Given the description of an element on the screen output the (x, y) to click on. 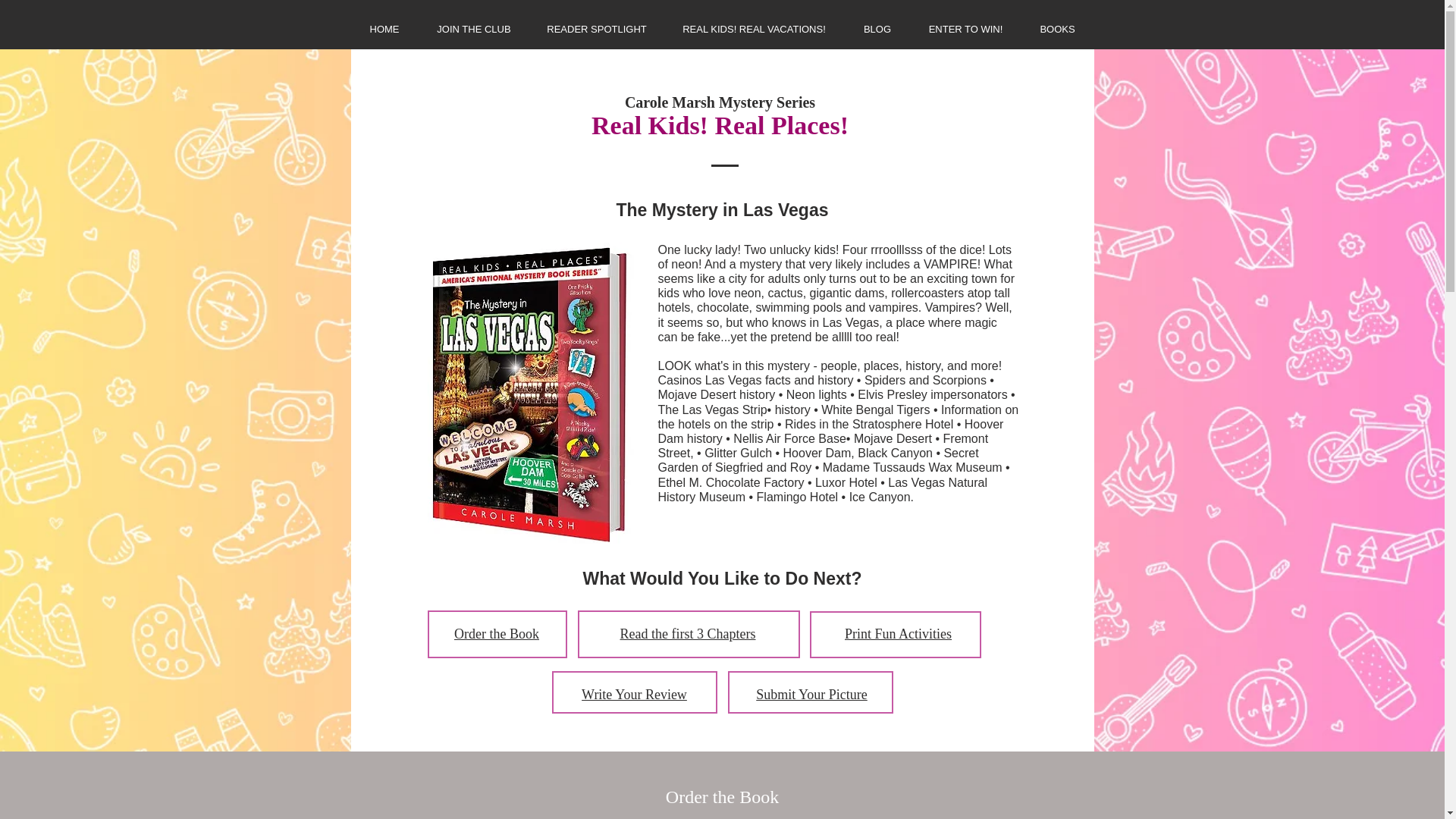
BLOG (877, 29)
Read the first 3 Chapters (687, 633)
Print Fun Activities (898, 633)
READER SPOTLIGHT (596, 29)
Submit Your Picture (811, 694)
HOME (383, 29)
BOOKS (1056, 29)
JOIN THE CLUB (474, 29)
ENTER TO WIN! (965, 29)
Write Your Review (633, 694)
Order the Book (496, 633)
REAL KIDS! REAL VACATIONS! (753, 29)
